Given the description of an element on the screen output the (x, y) to click on. 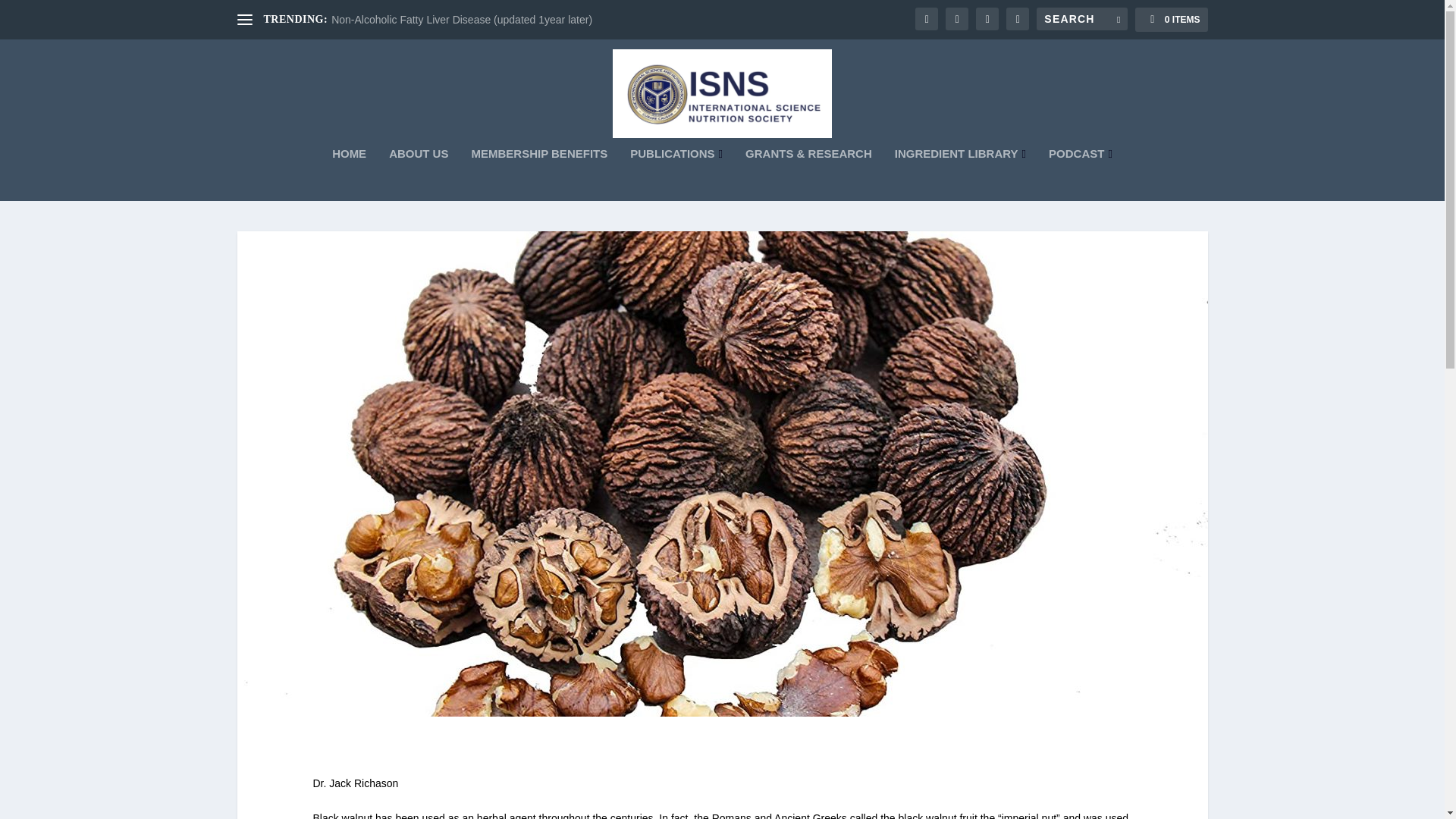
0 ITEMS (1171, 19)
0 Items in Cart (1171, 19)
Search for: (1081, 18)
MEMBERSHIP BENEFITS (538, 174)
ABOUT US (418, 174)
PUBLICATIONS (676, 174)
